Given the description of an element on the screen output the (x, y) to click on. 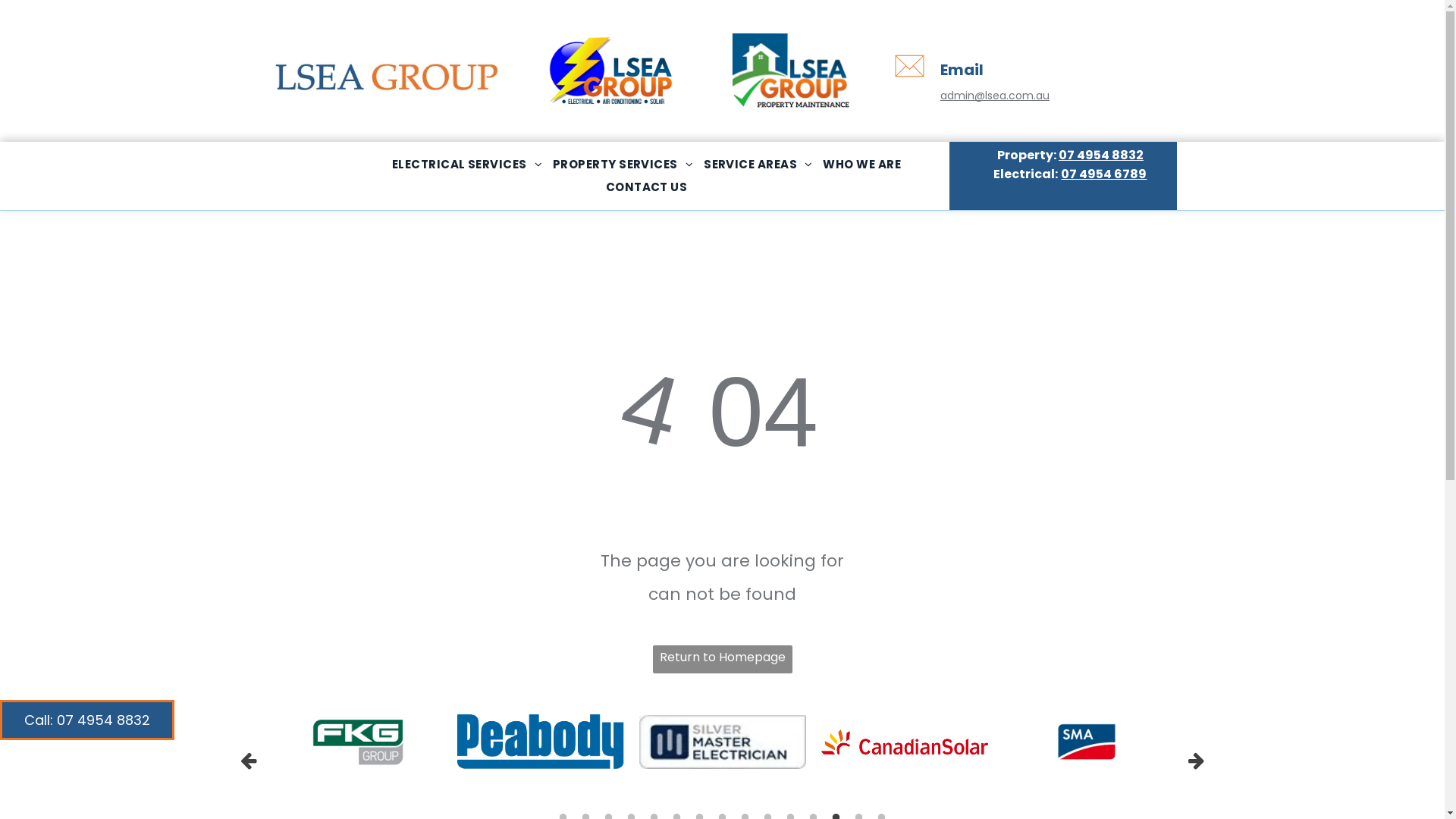
https://www.canadiansolar.com/ Element type: text (903, 741)
LSEA Group Are Your Local Electricians Element type: hover (385, 76)
admin@lsea.com.au Element type: text (994, 95)
WHO WE ARE Element type: text (861, 164)
PROPERTY SERVICES Element type: text (622, 164)
https://www.sma-australia.com.au/ Element type: text (1085, 741)
https://www.suntech-power.com.au/ Element type: text (1267, 741)
https://masterelectricians.com.au/membership-package/pricing Element type: text (721, 741)
ELECTRICAL SERVICES Element type: text (466, 164)
https://www.fkg.com.au/ Element type: text (358, 741)
https://www.peabodyenergy.com/ Element type: text (539, 741)
LSEA Group Property Maintenance Element type: hover (790, 69)
LSEA Electrical Group Element type: hover (609, 75)
SERVICE AREAS Element type: text (757, 164)
07 4954 8832 Element type: text (1100, 154)
Return to Homepage Element type: text (721, 659)
https://www.bhp.com/ Element type: text (176, 741)
Call: 07 4954 8832 Element type: text (87, 719)
07 4954 6789 Element type: text (1103, 173)
CONTACT US Element type: text (646, 186)
